Given the description of an element on the screen output the (x, y) to click on. 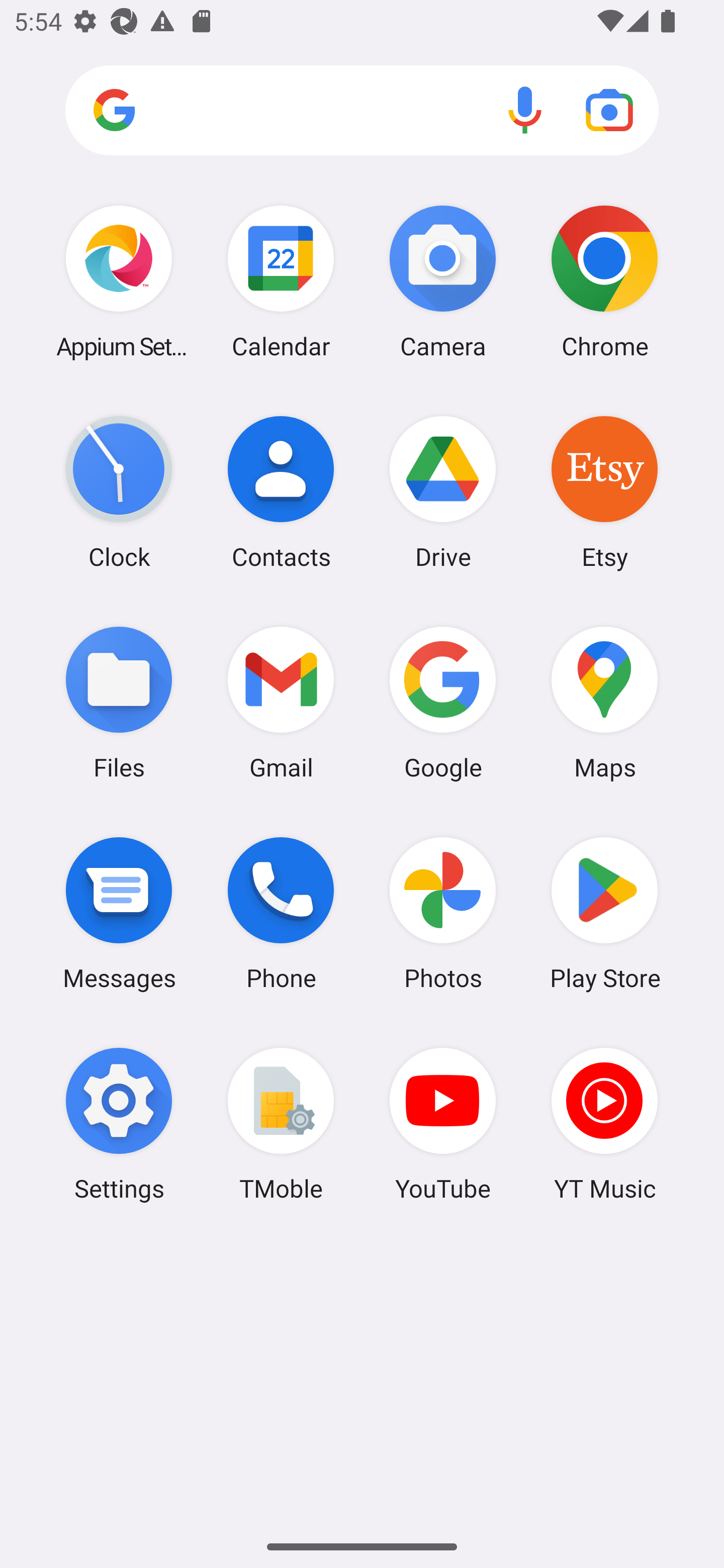
Search apps, web and more (361, 110)
Voice search (524, 109)
Google Lens (608, 109)
Appium Settings (118, 281)
Calendar (280, 281)
Camera (443, 281)
Chrome (604, 281)
Clock (118, 492)
Contacts (280, 492)
Drive (443, 492)
Etsy (604, 492)
Files (118, 702)
Gmail (280, 702)
Google (443, 702)
Maps (604, 702)
Messages (118, 913)
Phone (280, 913)
Photos (443, 913)
Play Store (604, 913)
Settings (118, 1124)
TMoble (280, 1124)
YouTube (443, 1124)
YT Music (604, 1124)
